Given the description of an element on the screen output the (x, y) to click on. 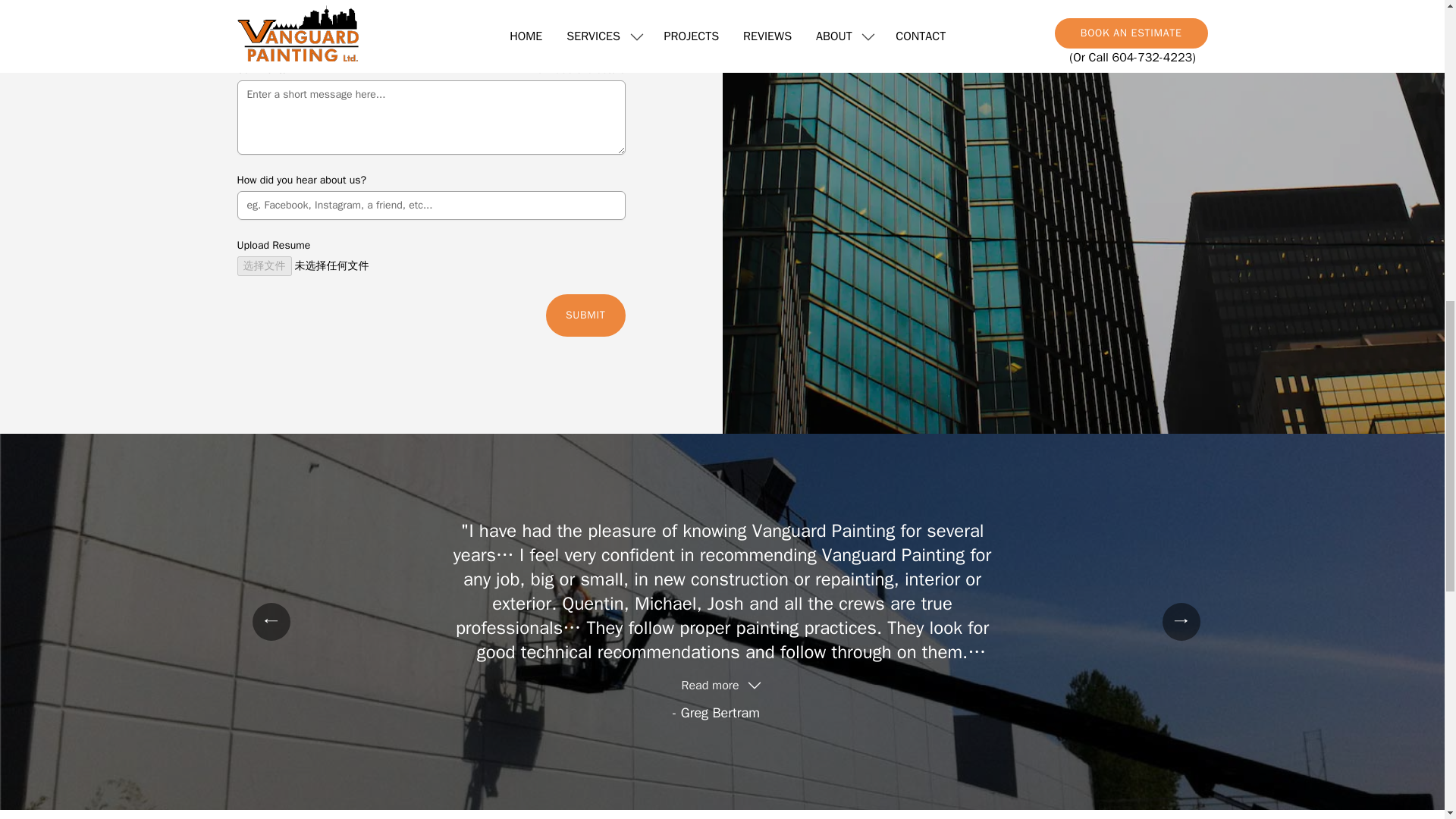
SUBMIT (586, 315)
Read more (721, 685)
